Given the description of an element on the screen output the (x, y) to click on. 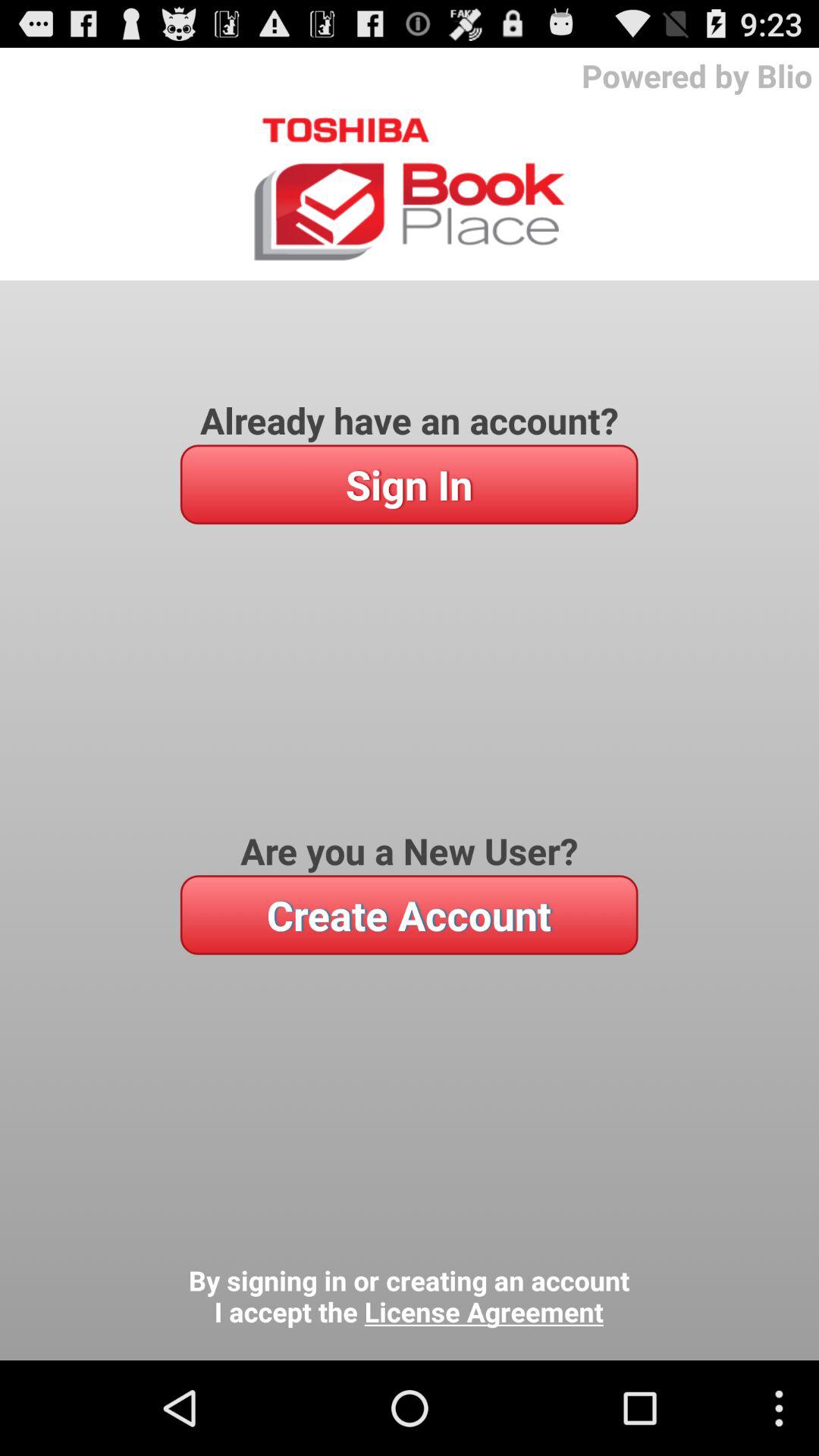
launch item below the are you a icon (409, 914)
